Given the description of an element on the screen output the (x, y) to click on. 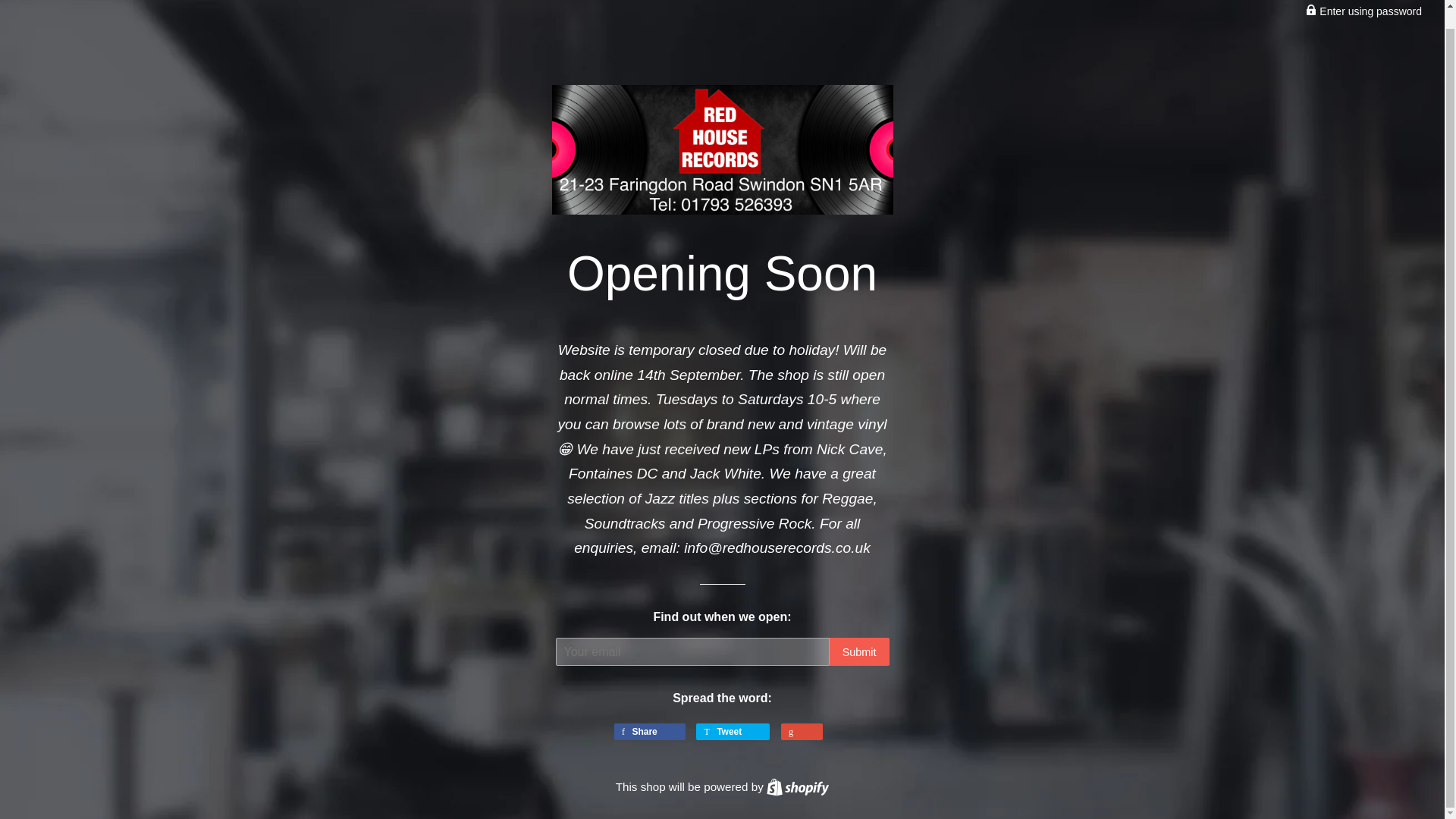
Submit (797, 786)
Create your own online store with Shopify (859, 651)
Shopify logo (797, 786)
Submit (797, 787)
Tweet (859, 651)
Lock icon Enter using password (732, 731)
Share (1364, 10)
Lock icon (649, 731)
